Given the description of an element on the screen output the (x, y) to click on. 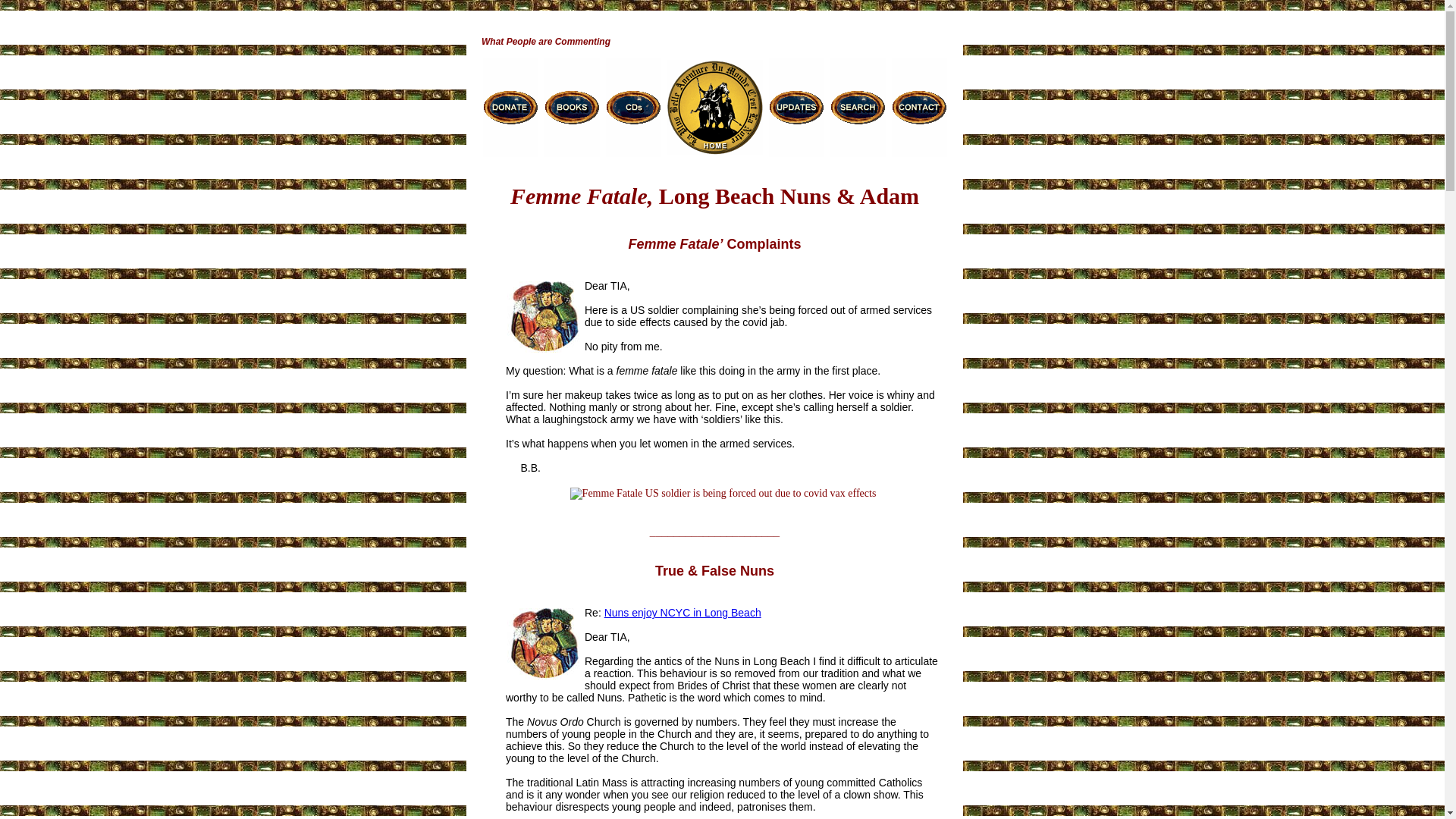
Nuns enjoy NCYC in Long Beach (682, 612)
